Given the description of an element on the screen output the (x, y) to click on. 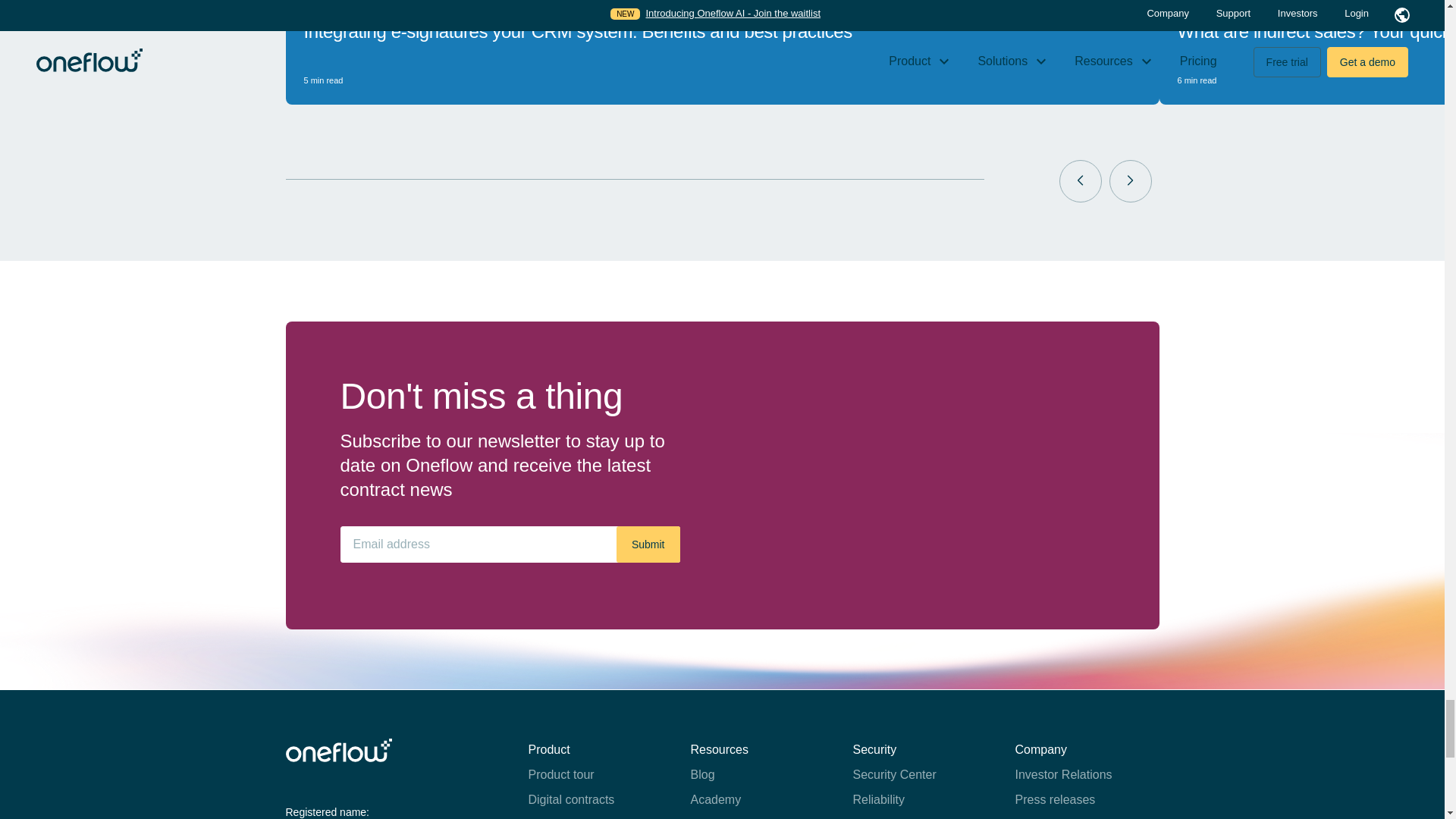
Submit (647, 544)
